Given the description of an element on the screen output the (x, y) to click on. 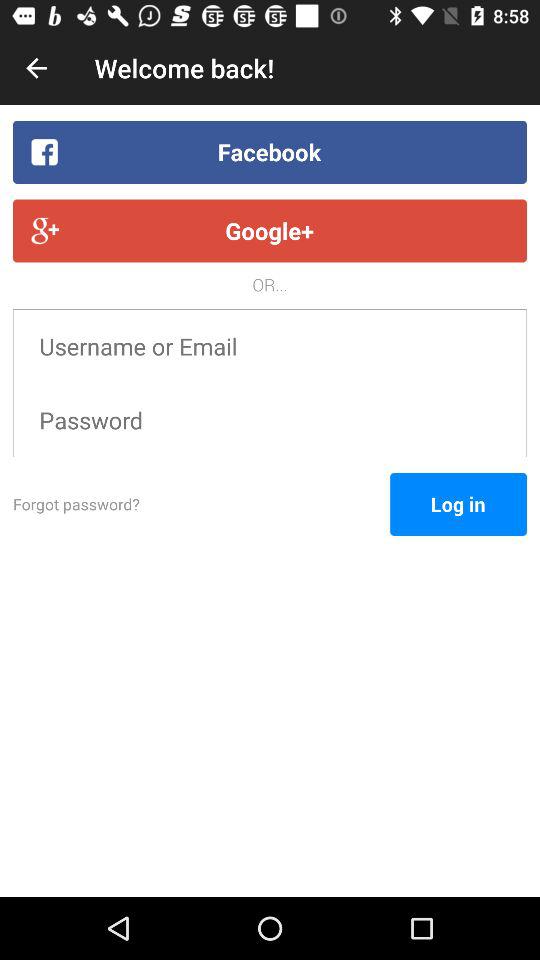
select item to the left of the log in item (201, 503)
